Given the description of an element on the screen output the (x, y) to click on. 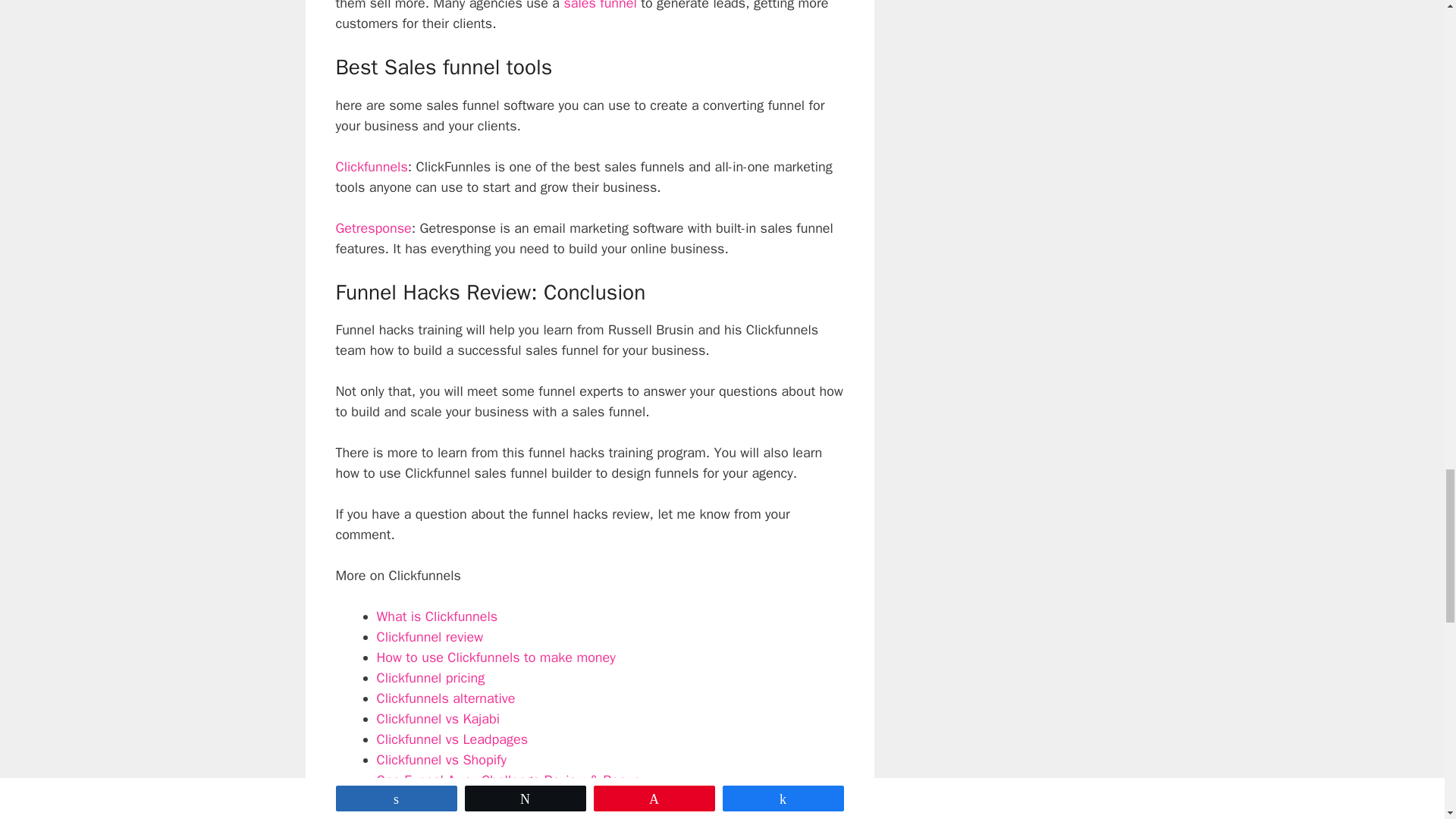
sales funnel (599, 5)
Clickfunnels alternative (445, 698)
Clickfunnel pricing (429, 677)
Clickfunnel review (429, 636)
Clickfunnel vs Leadpages (451, 739)
How to use Clickfunnels to make money (494, 657)
Clickfunnel vs Shopify (440, 759)
Clickfunnel vs Kajabi (437, 718)
Clickfunnels (370, 166)
What is Clickfunnels (436, 616)
Getresponse (372, 228)
